Given the description of an element on the screen output the (x, y) to click on. 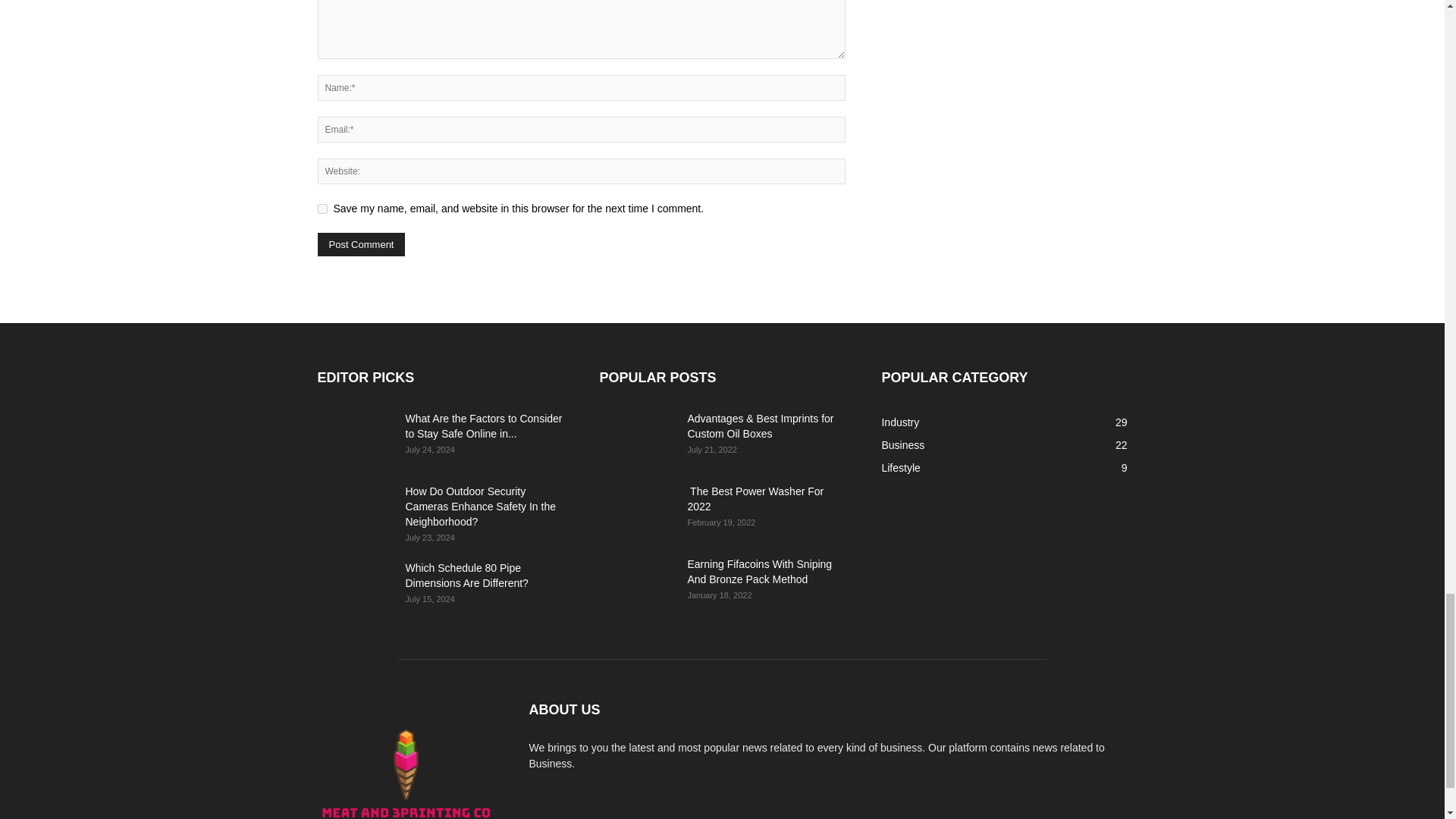
Post Comment (360, 244)
yes (321, 208)
